Given the description of an element on the screen output the (x, y) to click on. 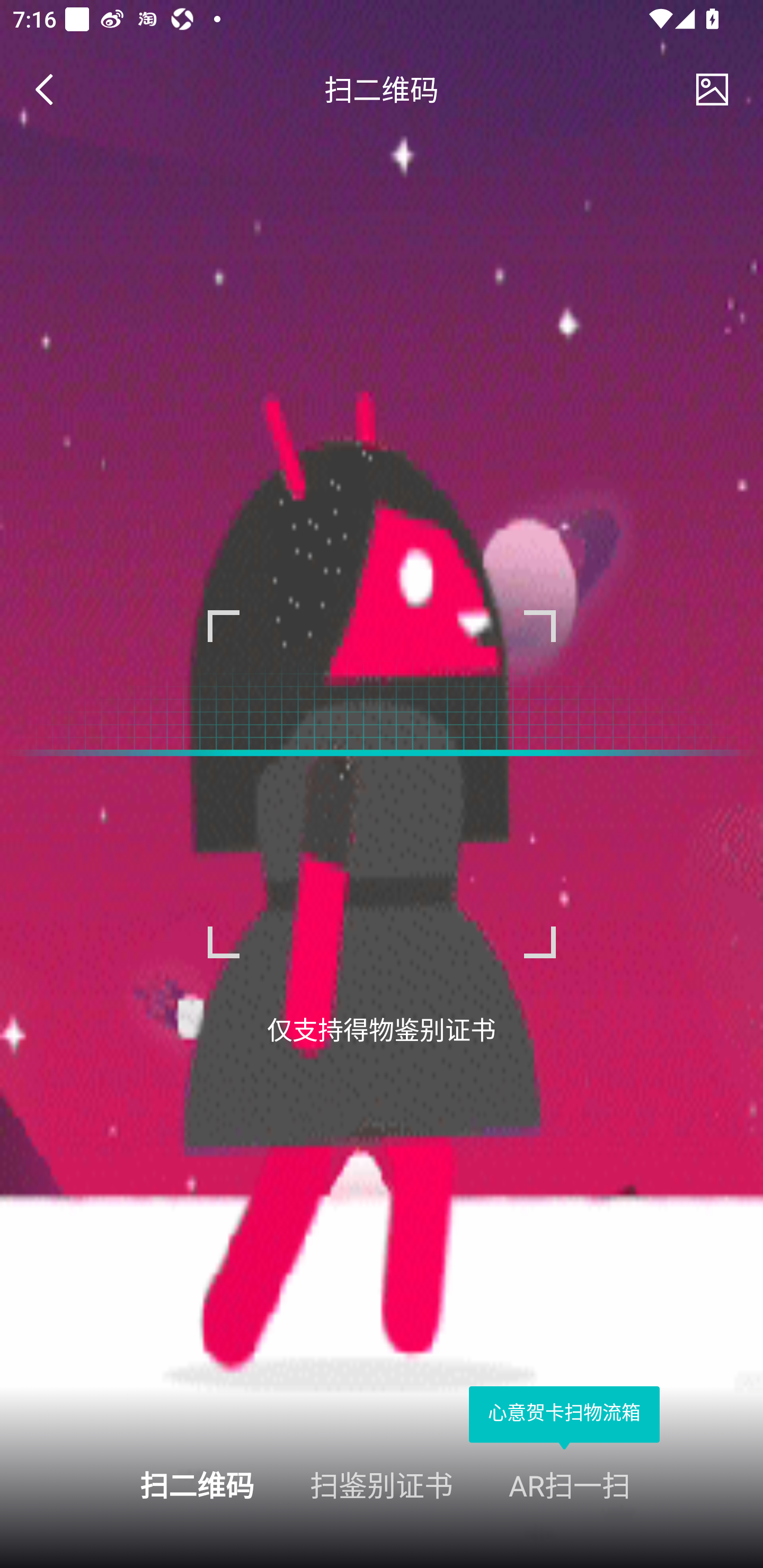
 (51, 89)
 (711, 89)
扫二维码 (127, 1484)
扫鉴别证书 (381, 1484)
AR扫一扫 (635, 1484)
